Given the description of an element on the screen output the (x, y) to click on. 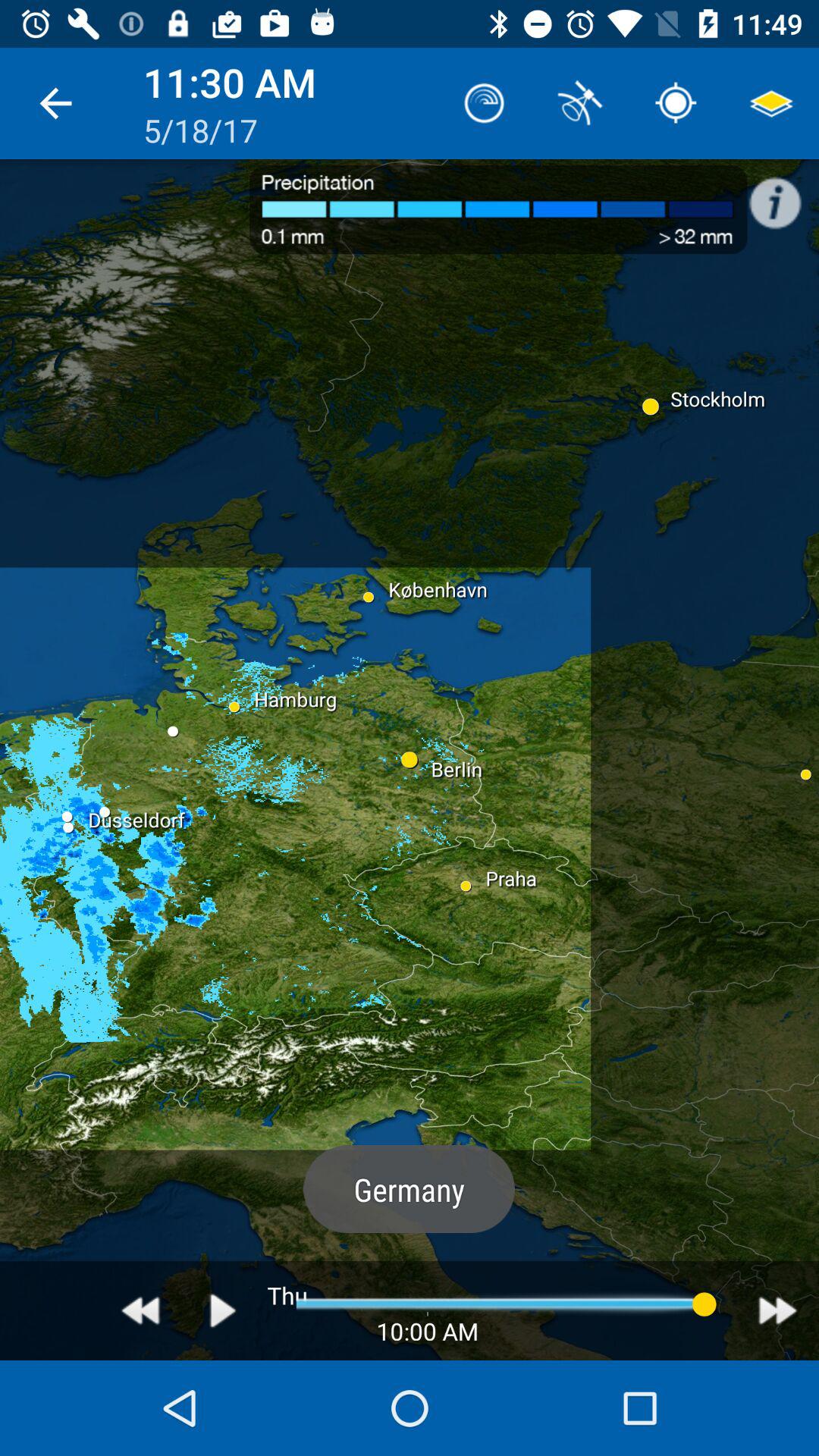
go back (140, 1310)
